Given the description of an element on the screen output the (x, y) to click on. 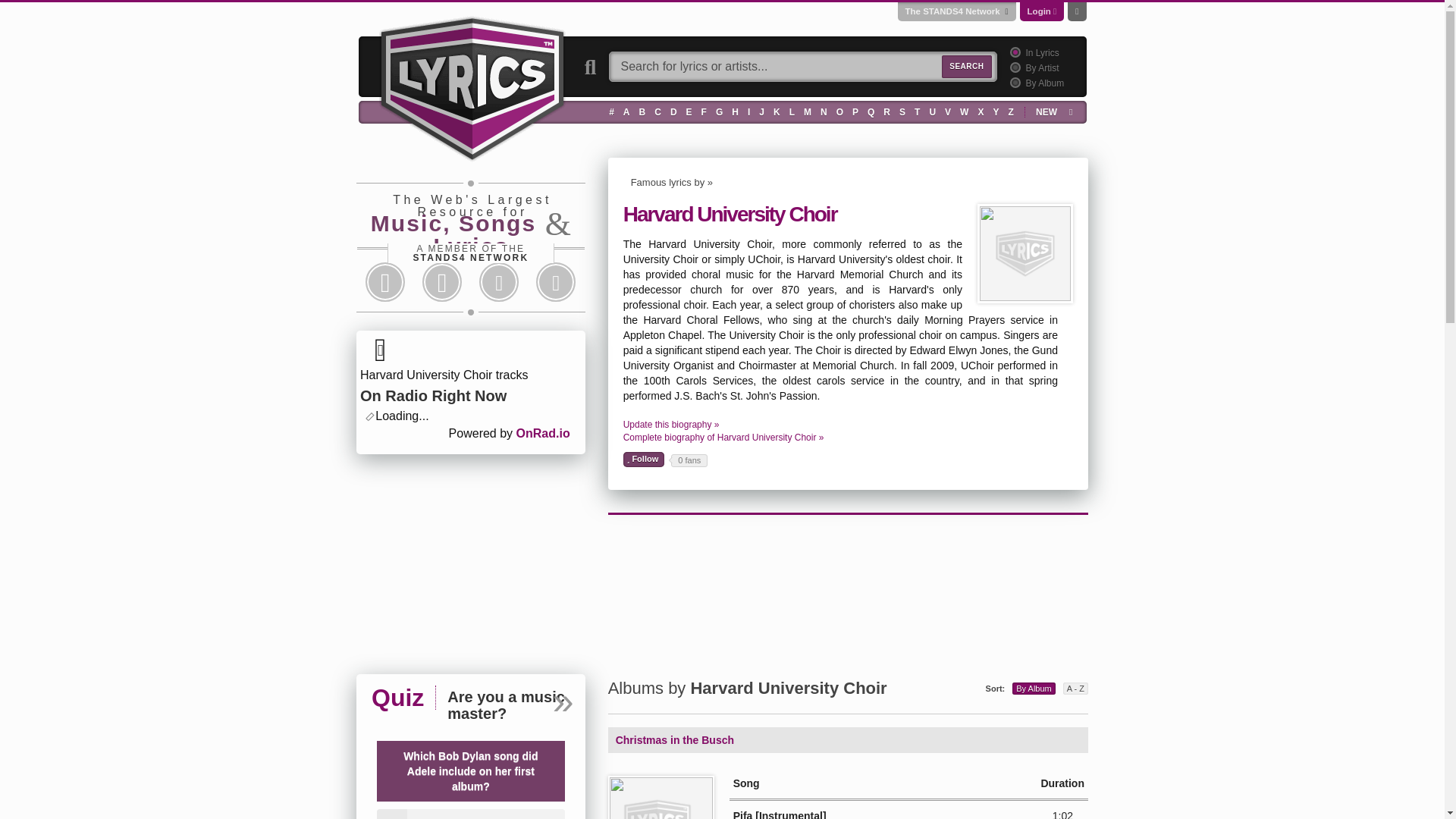
Christmas in the Busch (661, 798)
Login (1039, 10)
Harvard University Choir (1024, 253)
Lyrics.com (471, 86)
click to add your vote (644, 459)
Share this page on Twitter (441, 282)
Share this page on Facebook (384, 282)
SEARCH (966, 66)
2 (1013, 67)
Share this page on Reddit (498, 282)
